Given the description of an element on the screen output the (x, y) to click on. 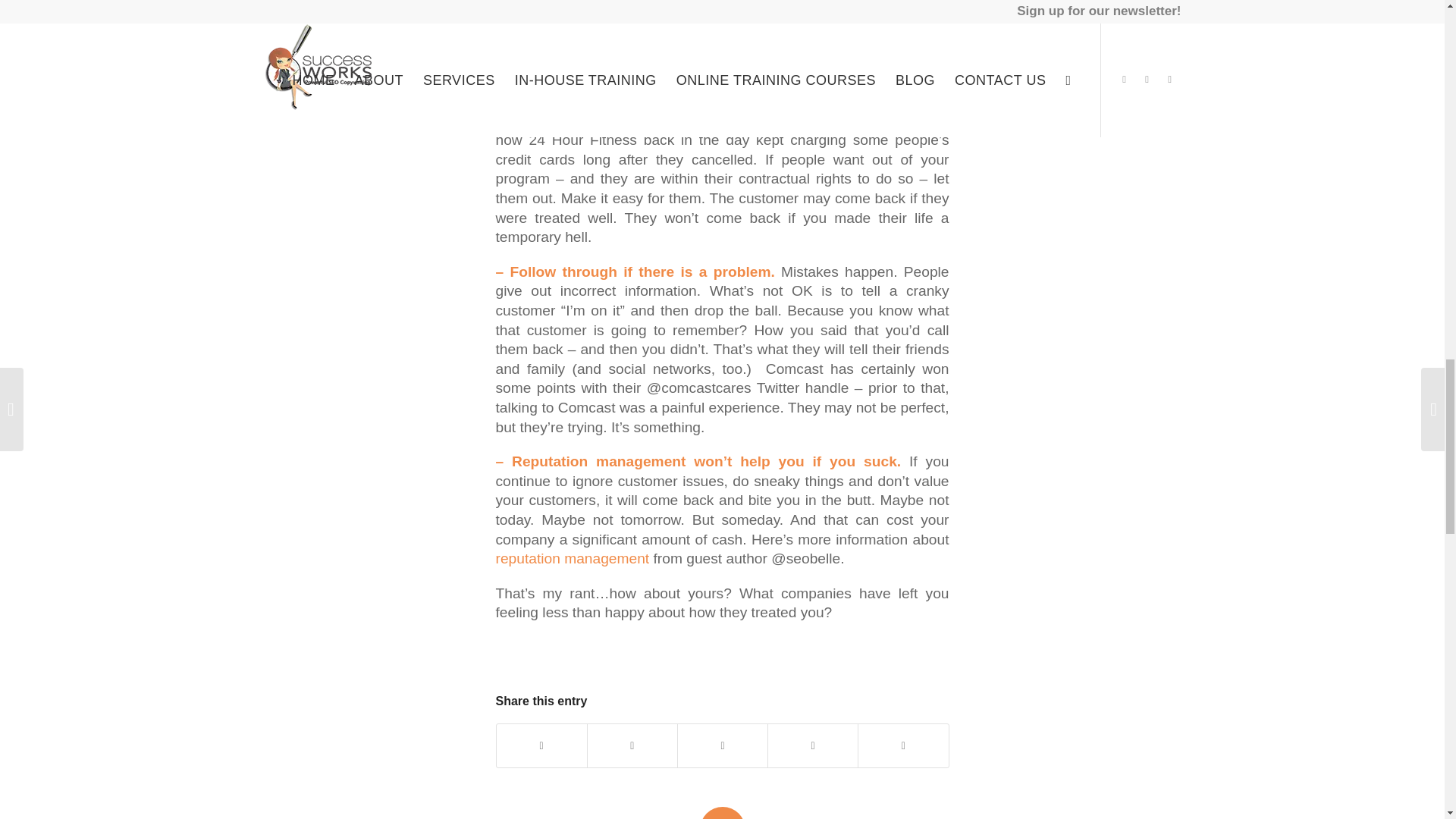
reputation management (572, 558)
blog posts (530, 12)
